Given the description of an element on the screen output the (x, y) to click on. 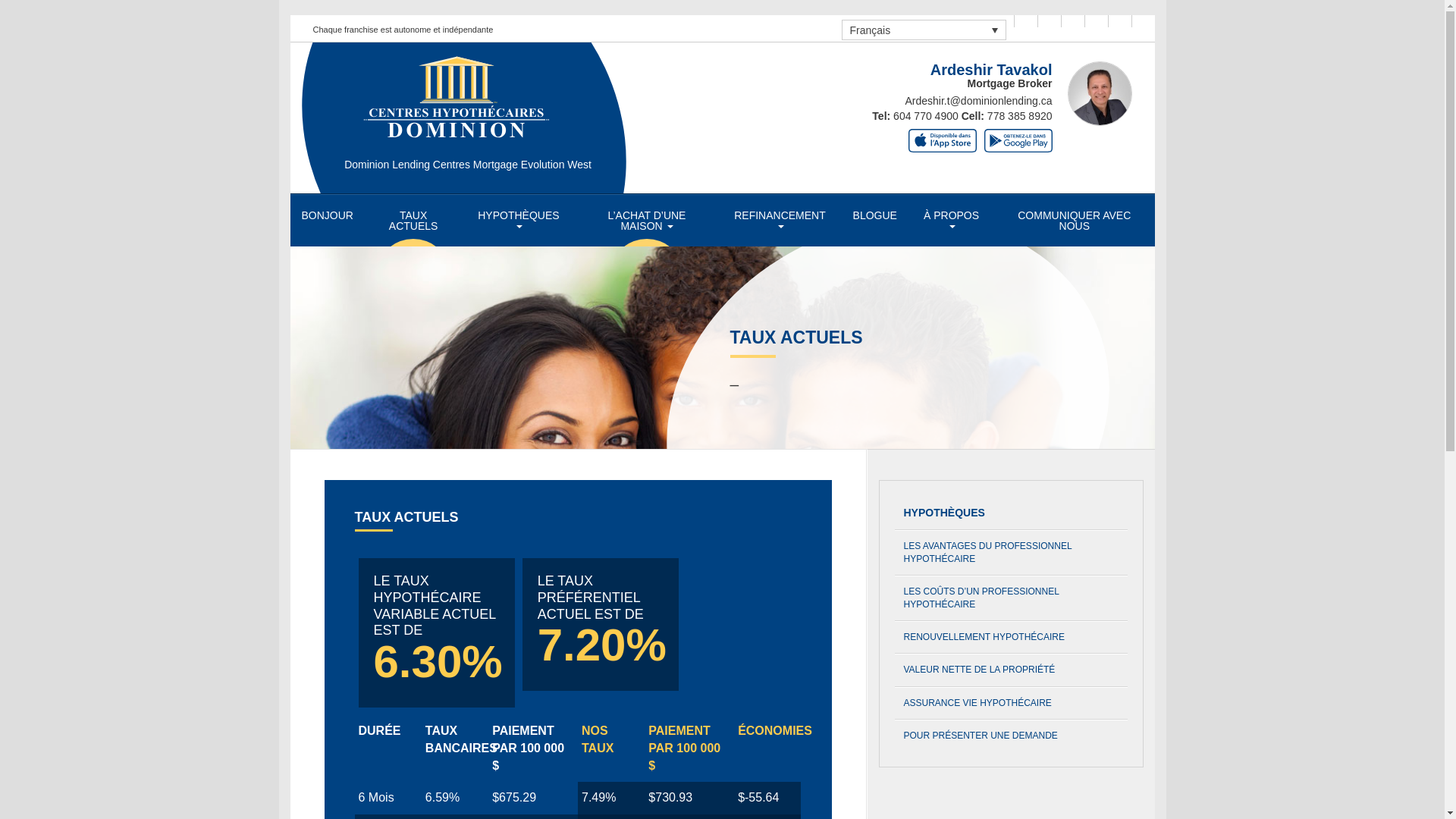
604 770 4900 Element type: text (925, 115)
Ardeshir.t@dominionlending.ca Element type: text (978, 100)
TAUX ACTUELS Element type: text (412, 220)
REFINANCEMENT Element type: text (779, 220)
COMMUNIQUER AVEC NOUS Element type: text (1074, 220)
BLOGUE Element type: text (874, 214)
778 385 8920 Element type: text (1019, 115)
BONJOUR Element type: text (326, 214)
